Given the description of an element on the screen output the (x, y) to click on. 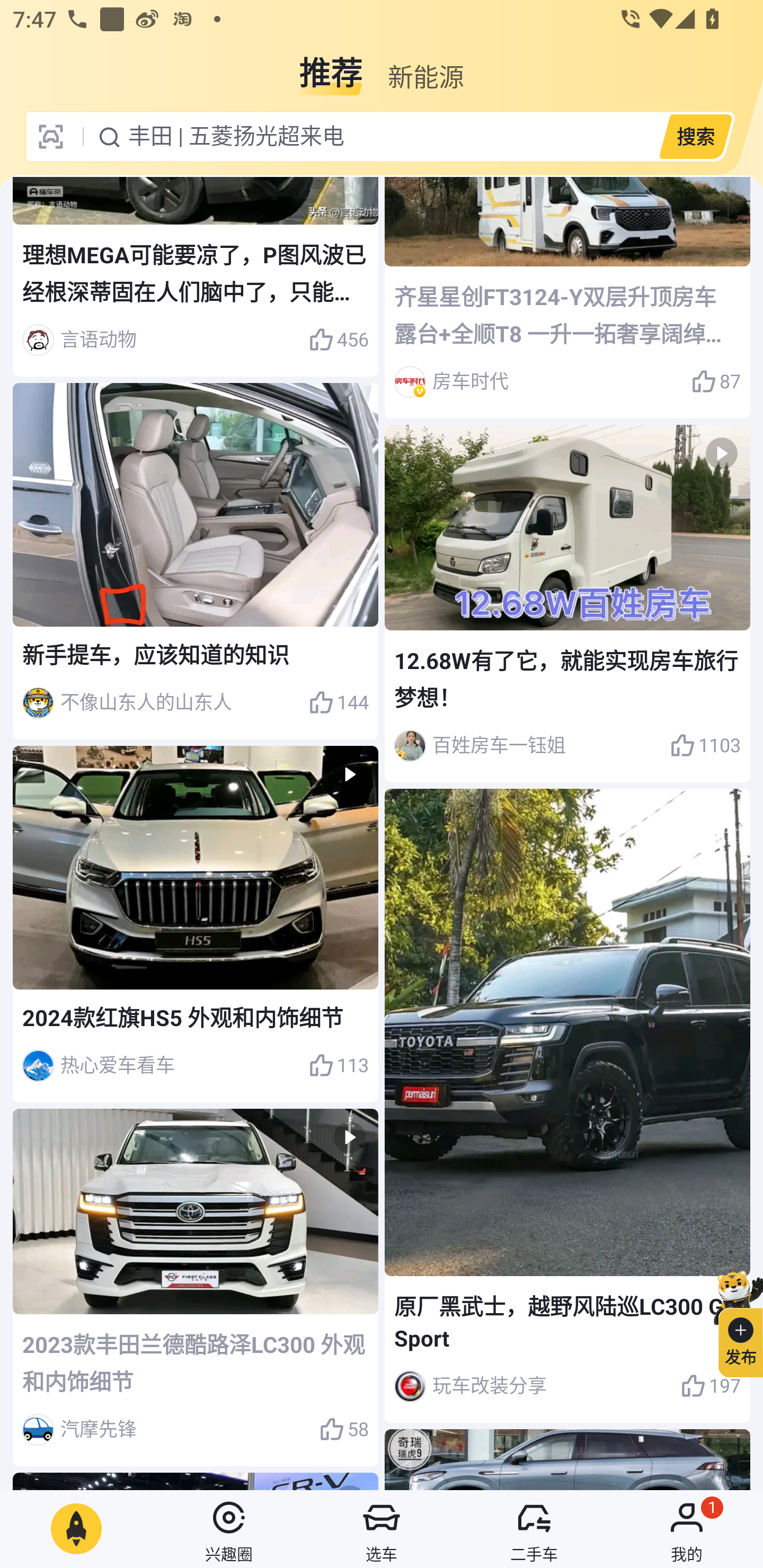
推荐 (330, 65)
新能源 (425, 65)
搜索 (695, 136)
齐星星创FT3124-Y双层升顶房车 露台+全顺T8 一升一拓奢享阔绰空间 房车时代 87 (567, 297)
456 (338, 339)
87 (715, 381)
新手提车，应该知道的知识 不像山东人的山东人 144 (195, 561)
 12.68W有了它，就能实现房车旅行梦想！ 百姓房车一钰姐 1103 (567, 603)
144 (338, 702)
1103 (704, 745)
 2024款红旗HS5 外观和内饰细节 热心爱车看车 113 (195, 924)
原厂黑武士，越野风陆巡LC300 GR Sport 玩车改装分享 197 (567, 1105)
113 (338, 1065)
 2023款丰田兰德酷路泽LC300 外观和内饰细节 汽摩先锋 58 (195, 1287)
发布 (732, 1321)
197 (710, 1385)
58 (343, 1429)
 兴趣圈 (228, 1528)
 选车 (381, 1528)
 二手车 (533, 1528)
 我的 (686, 1528)
